Given the description of an element on the screen output the (x, y) to click on. 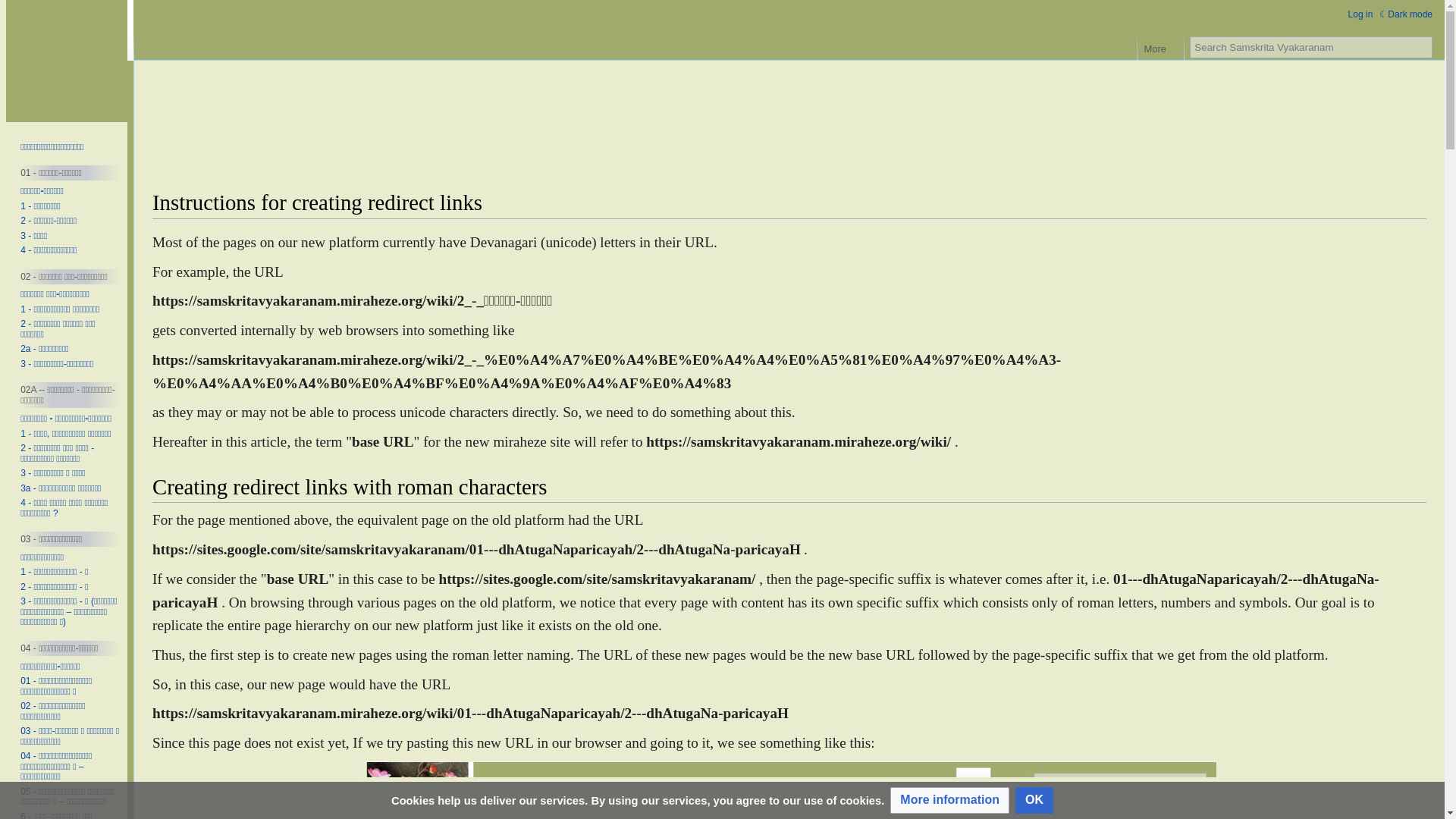
Search (1420, 46)
Go (1420, 46)
Search (1420, 46)
Go (1420, 46)
Dark mode (1405, 14)
More options (1160, 45)
Visit the main page (66, 61)
Search the pages for this text (1420, 46)
Search (1420, 46)
OK (1033, 800)
Log in (1360, 14)
More information (949, 800)
